Given the description of an element on the screen output the (x, y) to click on. 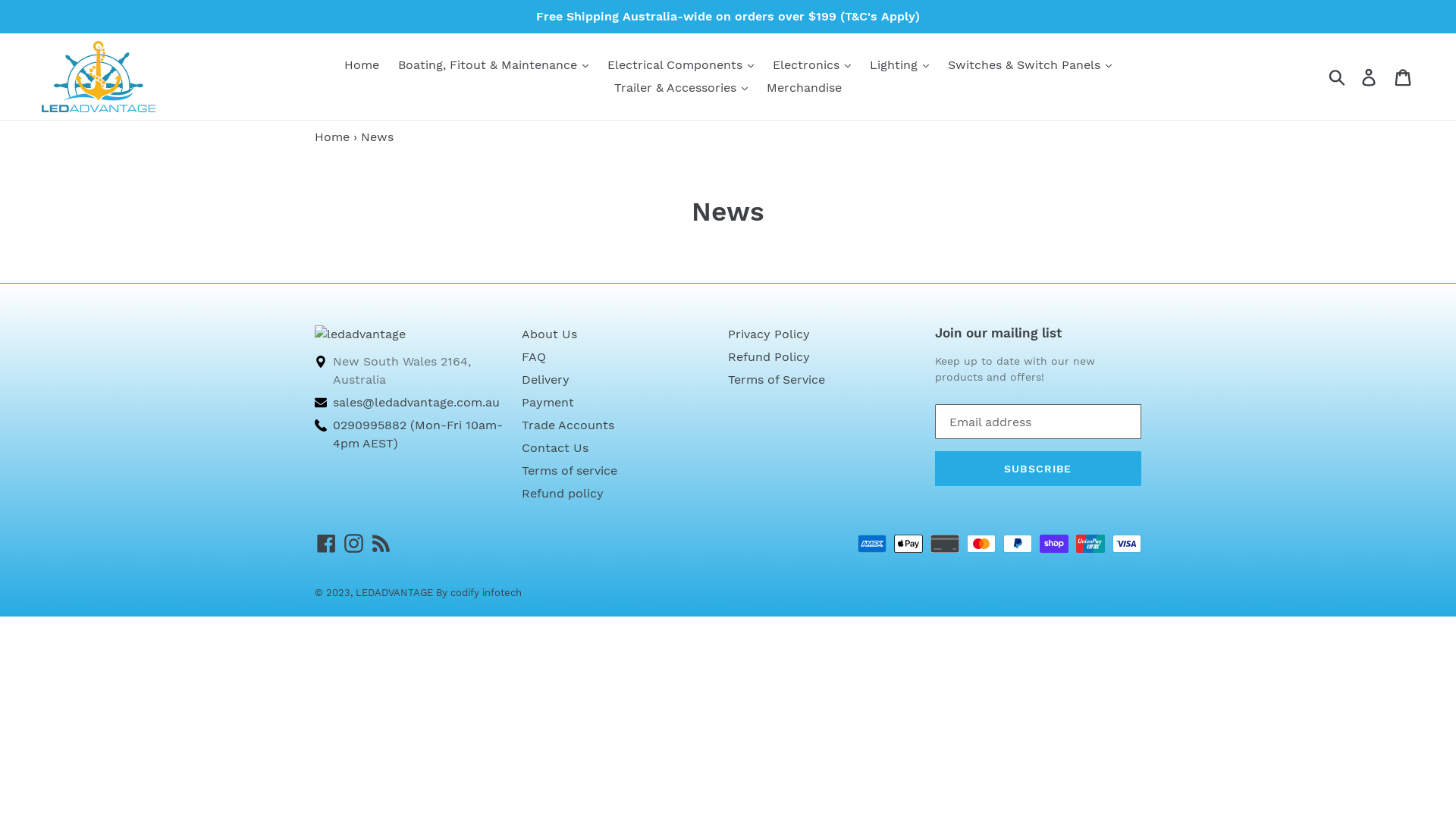
Trade Accounts Element type: text (567, 424)
Instagram Element type: text (353, 543)
Home Element type: text (361, 64)
LEDADVANTAGE Element type: text (394, 592)
Privacy Policy Element type: text (768, 333)
Delivery Element type: text (545, 378)
FAQ Element type: text (533, 355)
Log in Element type: text (1369, 76)
RSS Element type: text (380, 543)
About Us Element type: text (549, 333)
sales@ledadvantage.com.au Element type: text (415, 401)
Facebook Element type: text (326, 543)
Contact Us Element type: text (554, 446)
Payment Element type: text (547, 401)
Terms of Service Element type: text (776, 378)
Merchandise Element type: text (804, 87)
SUBSCRIBE Element type: text (1037, 468)
Refund policy Element type: text (562, 492)
codify infotech Element type: text (485, 592)
Terms of service Element type: text (569, 469)
Submit Element type: text (1337, 76)
Cart Element type: text (1403, 76)
Home Element type: text (331, 136)
Refund Policy Element type: text (768, 355)
